Given the description of an element on the screen output the (x, y) to click on. 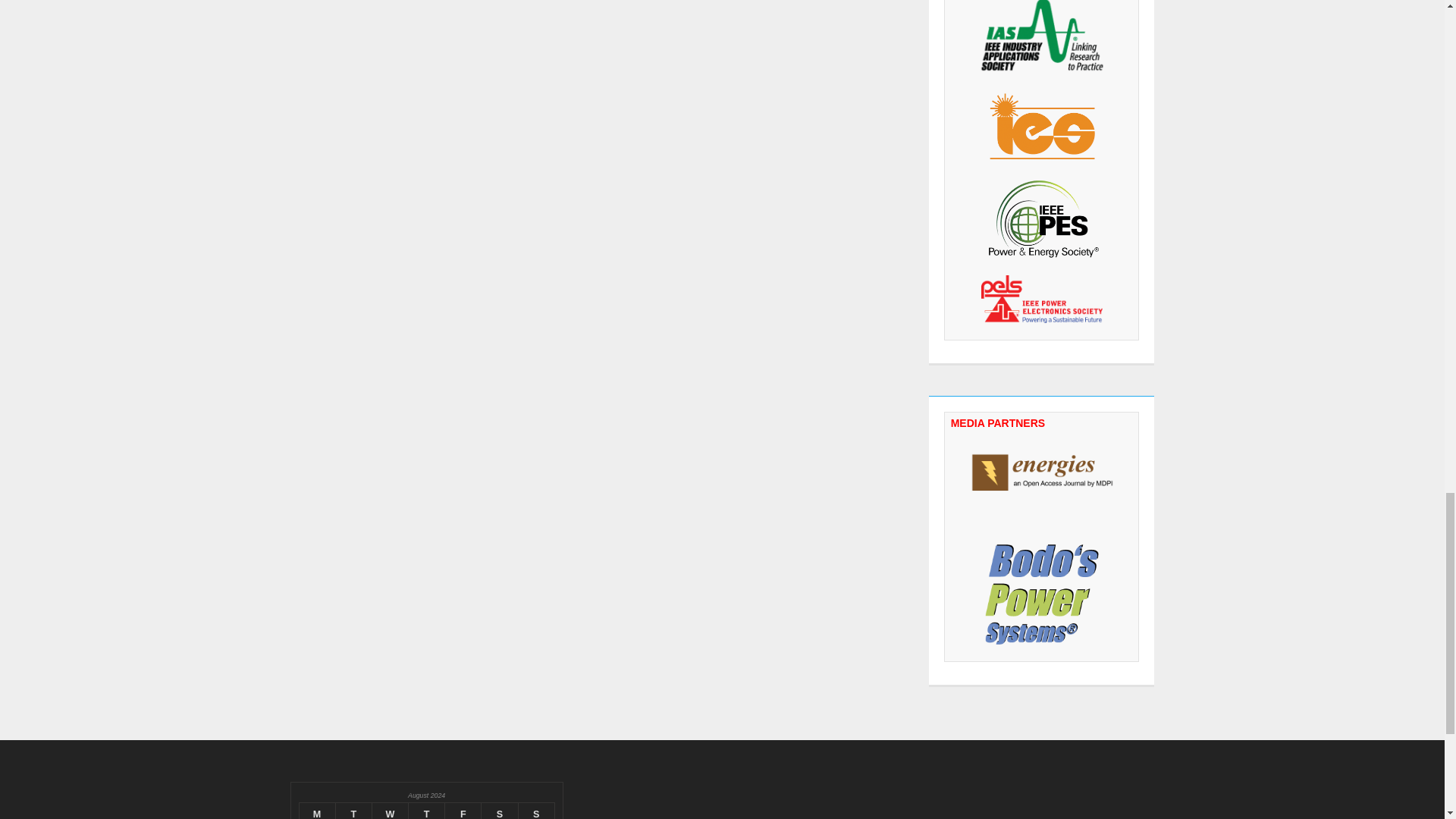
Sunday (536, 810)
Monday (316, 810)
Friday (463, 810)
Tuesday (352, 810)
Saturday (499, 810)
Thursday (427, 810)
Wednesday (389, 810)
